Given the description of an element on the screen output the (x, y) to click on. 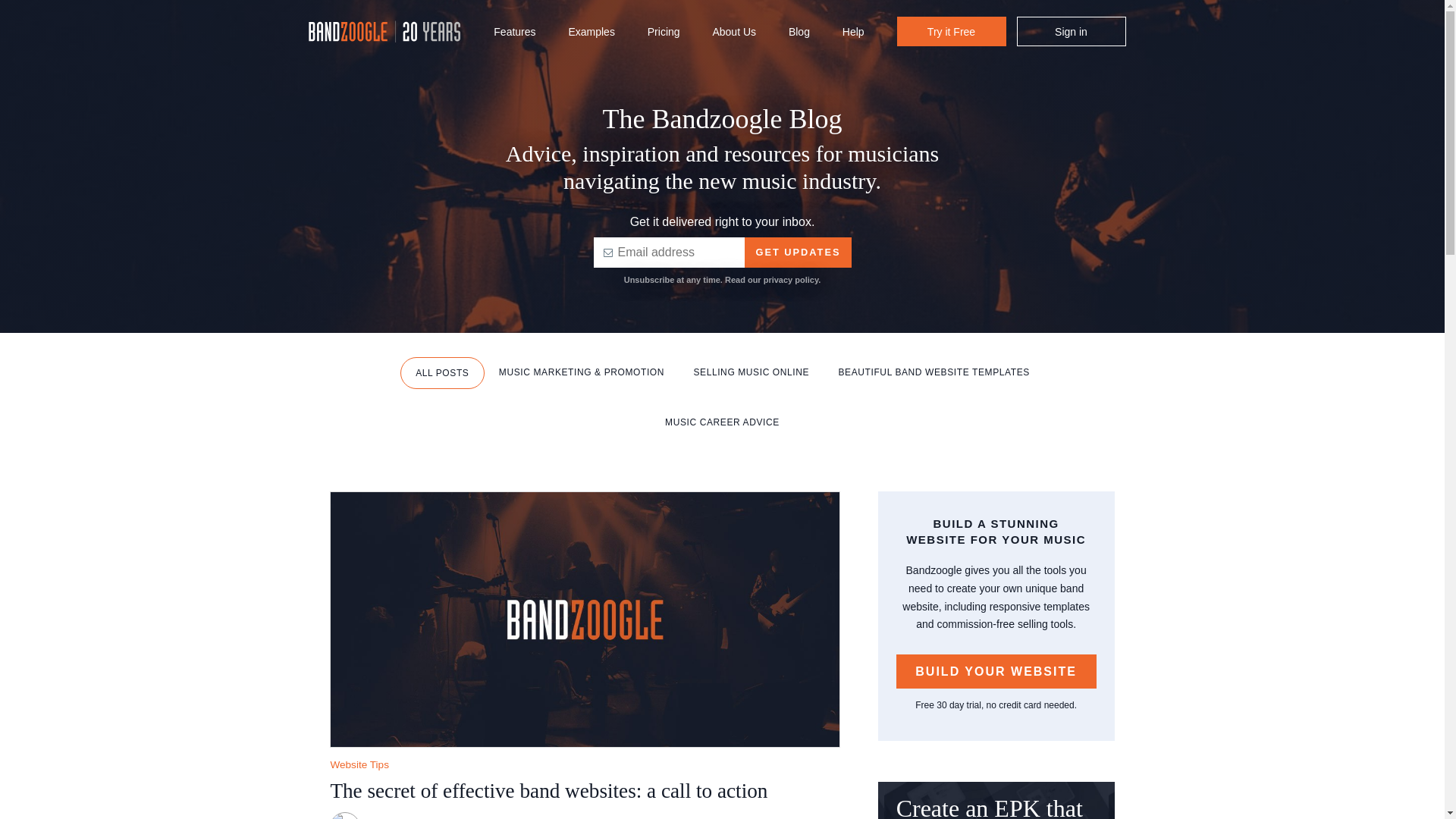
Features (514, 33)
Examples (590, 33)
About Us (733, 33)
Pricing (663, 33)
Help (853, 33)
Blog (799, 33)
